Given the description of an element on the screen output the (x, y) to click on. 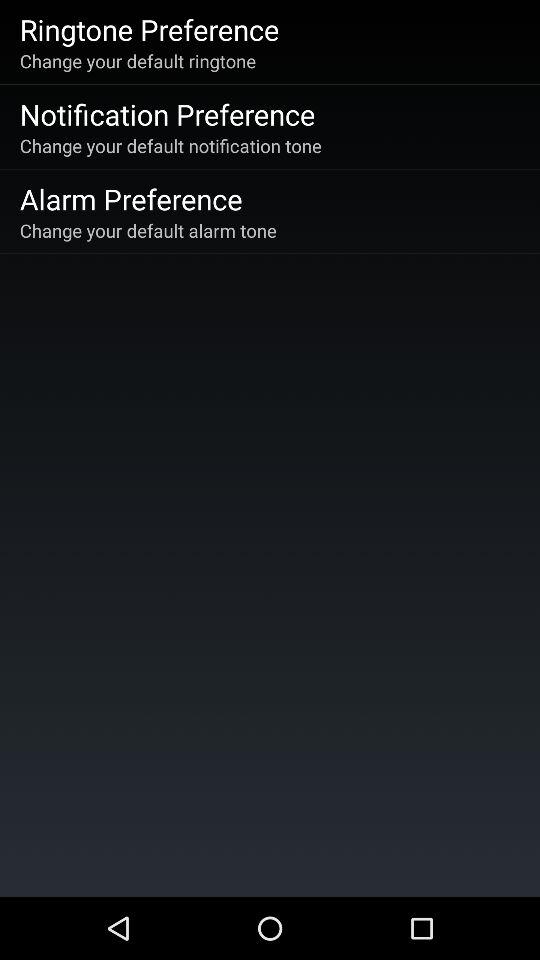
select the notification preference app (167, 113)
